Given the description of an element on the screen output the (x, y) to click on. 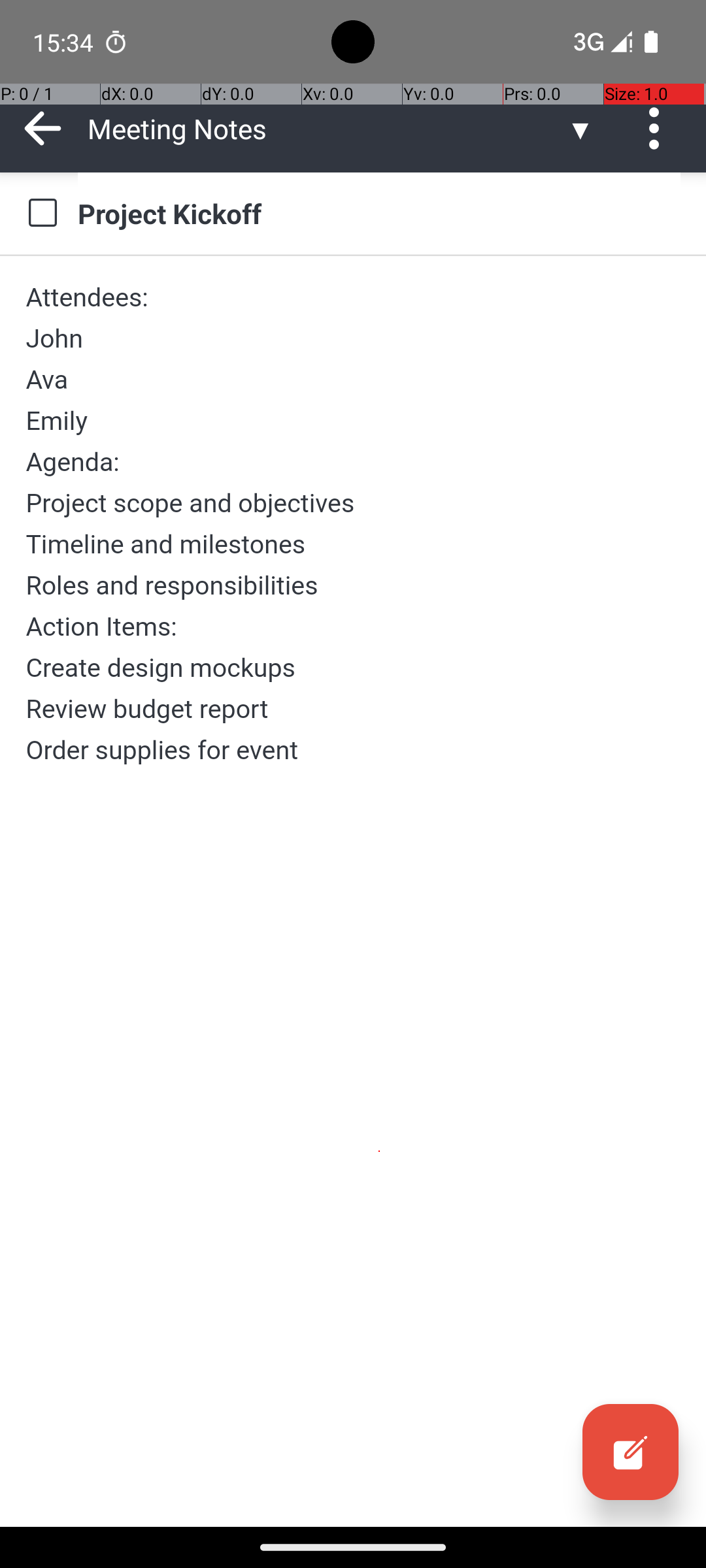
Attendees:
John
Ava
Emily
Agenda:
Project scope and objectives
Timeline and milestones
Roles and responsibilities
Action Items:
Create design mockups
Review budget report
Order supplies for event Element type: android.widget.TextView (352, 523)
